Given the description of an element on the screen output the (x, y) to click on. 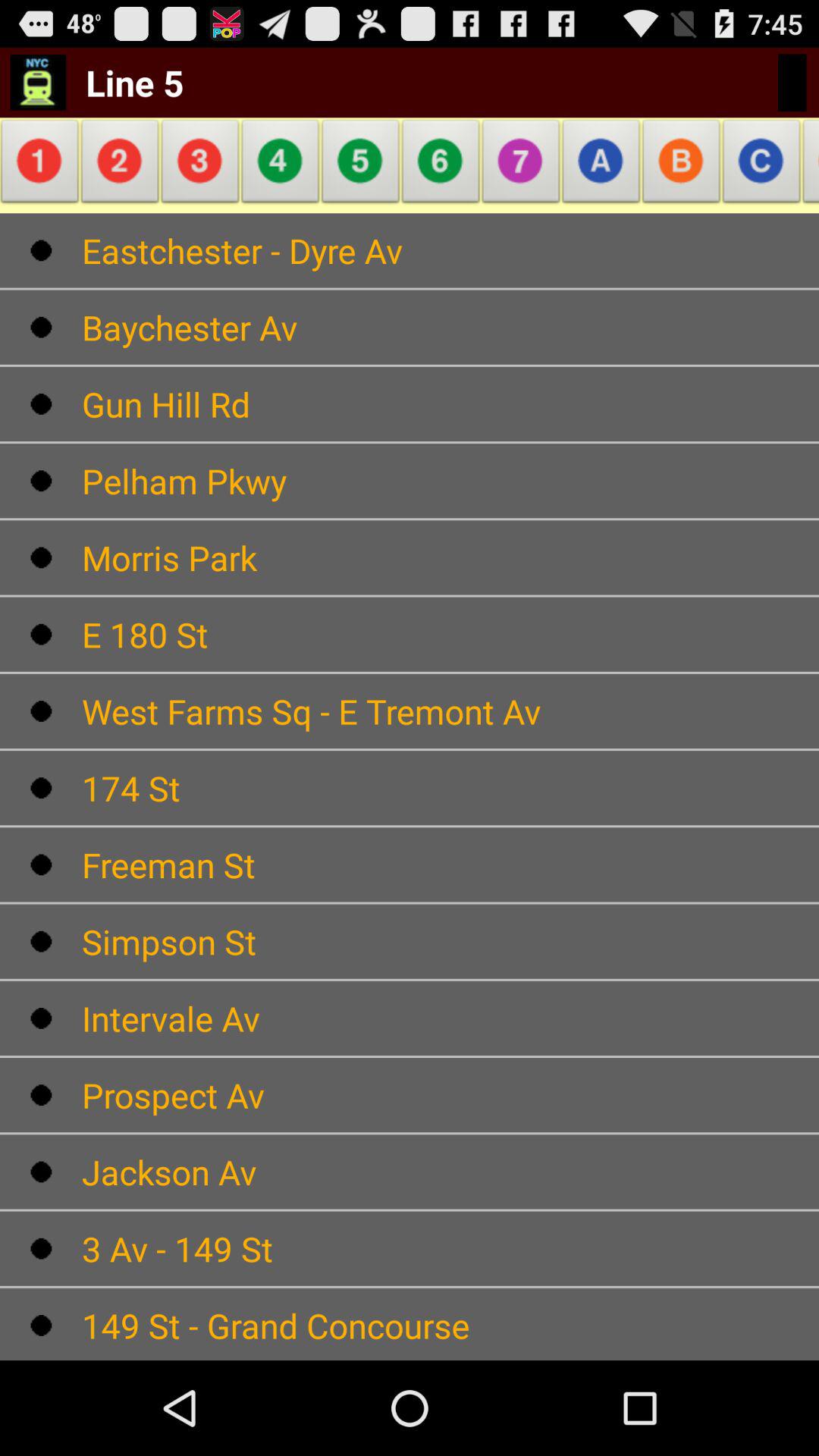
click on the button c which is right of button b (761, 164)
select the alphabet which is to the first left of c (681, 164)
select the text which is below gun hill rd (450, 481)
move to text which is below the text  baychester av (450, 403)
there is a bounding box on the right side in c alphabet letter (761, 164)
go to 174 st (450, 788)
